Given the description of an element on the screen output the (x, y) to click on. 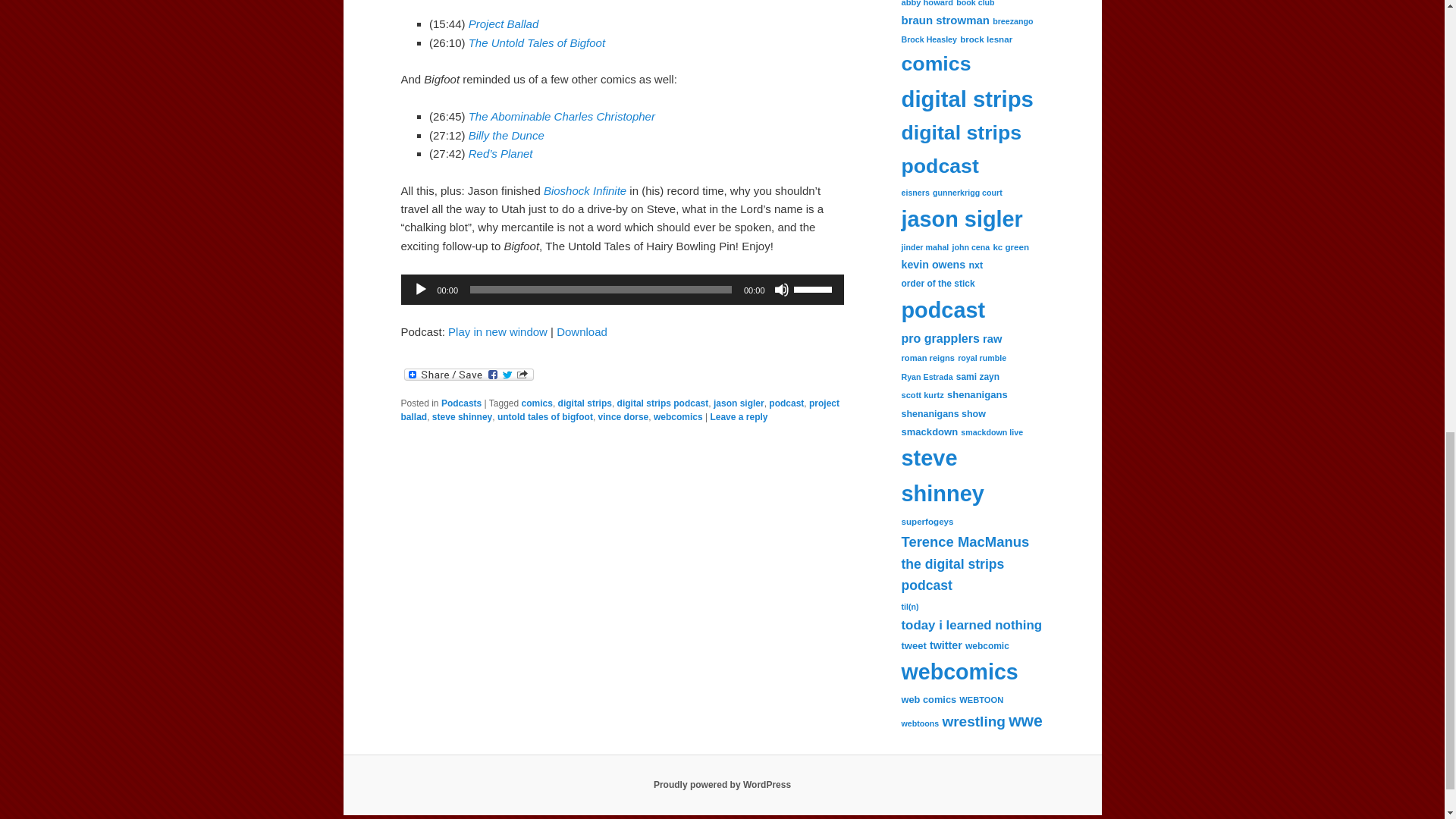
Play in new window (497, 330)
Project Ballad (503, 23)
Semantic Personal Publishing Platform (721, 784)
digital strips podcast (663, 403)
podcast (785, 403)
project ballad (620, 410)
Billy the Dunce (506, 134)
Play (420, 289)
The Abominable Charles Christopher (561, 115)
Podcasts (461, 403)
Download (581, 330)
Download (581, 330)
jason sigler (738, 403)
Mute (781, 289)
digital strips (584, 403)
